Given the description of an element on the screen output the (x, y) to click on. 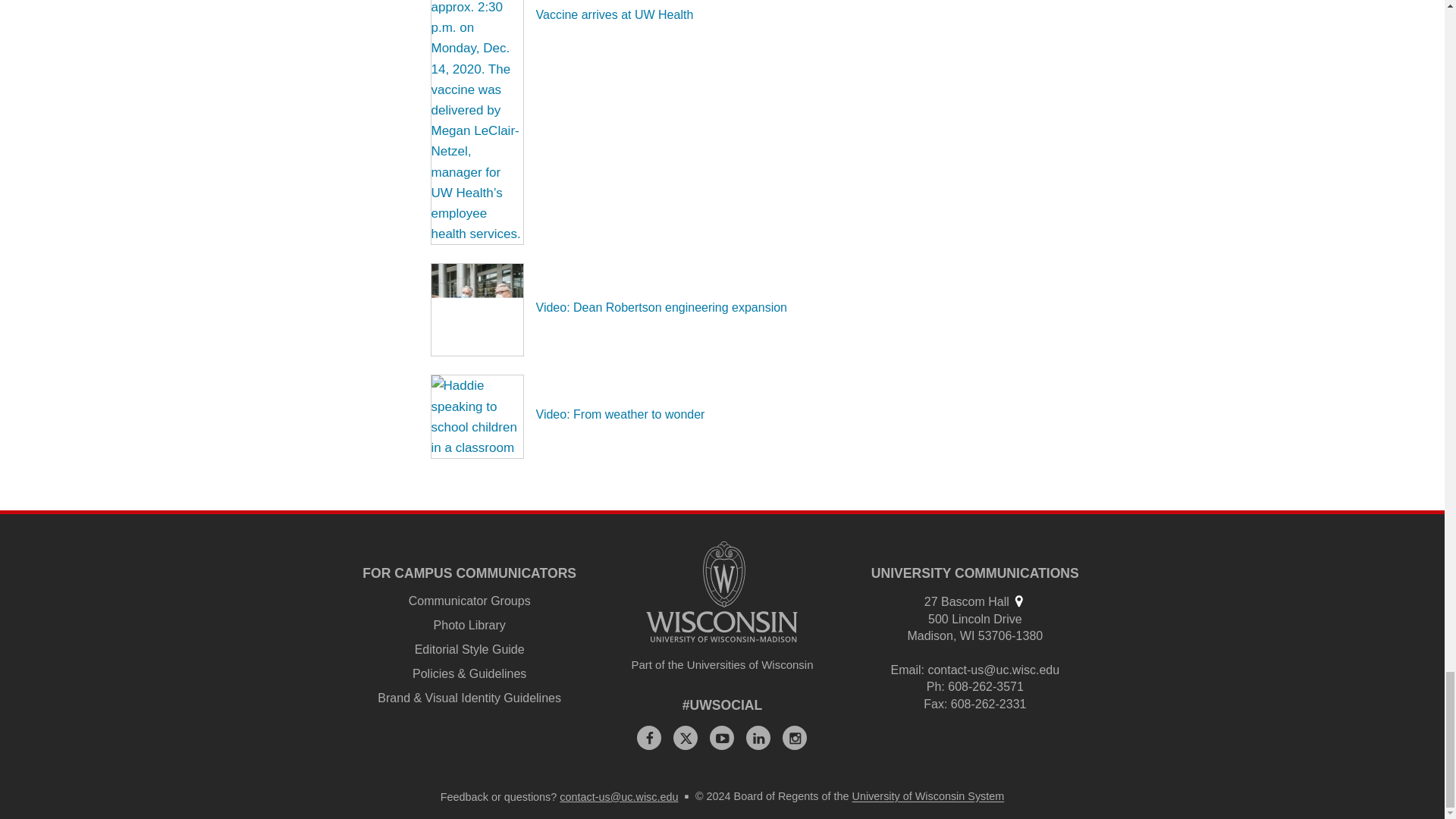
phone (934, 686)
Linked In (757, 737)
Video: Dean Robertson engineering expansion (661, 307)
X, formerly Twitter (684, 737)
University logo that links to main university website (721, 591)
Facebook (649, 737)
Instagram (794, 737)
Social media links (722, 704)
YouTube (721, 737)
Wisconsin (967, 635)
